Given the description of an element on the screen output the (x, y) to click on. 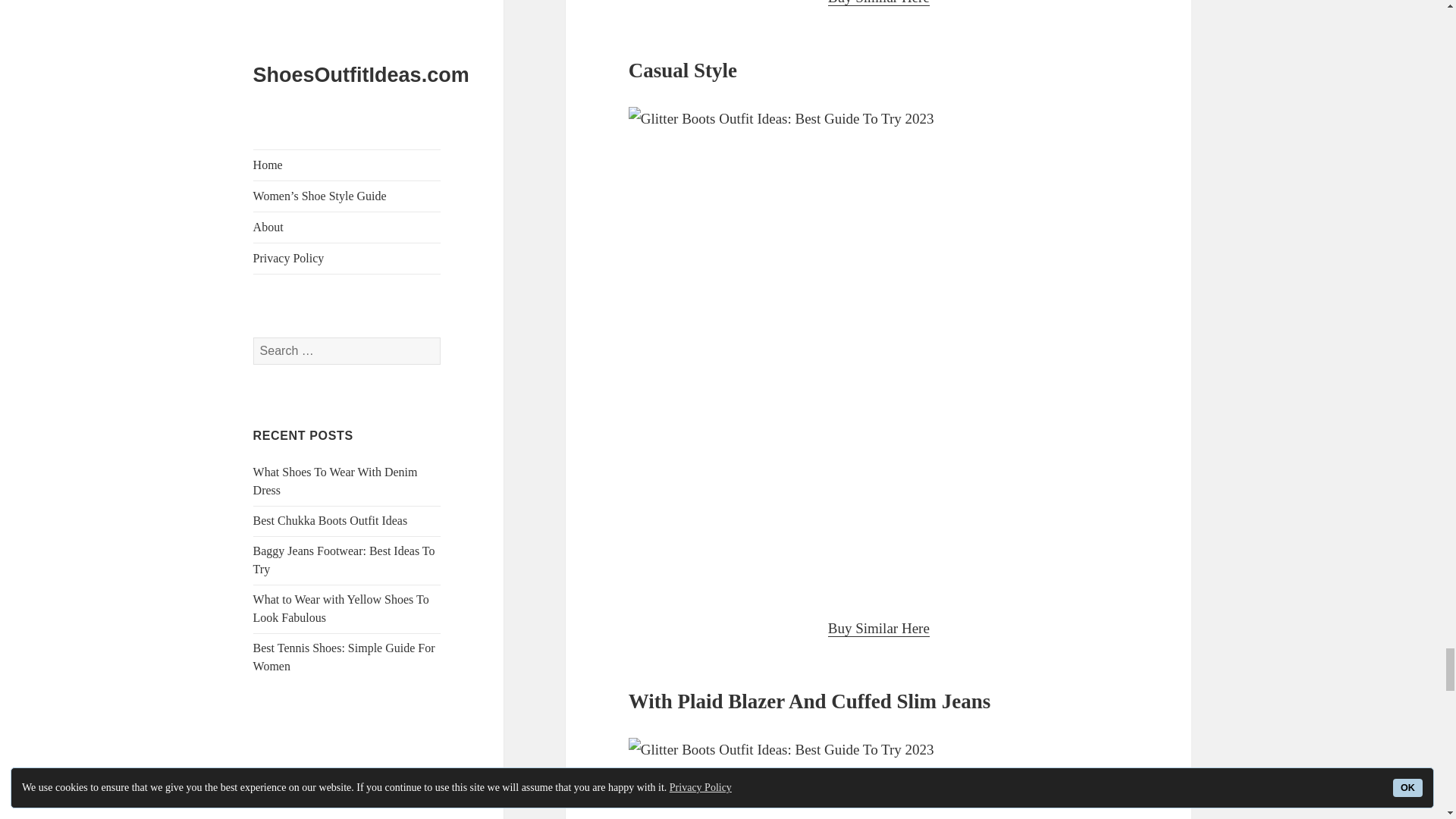
Buy Similar Here (879, 2)
Glitter Boots Outfit Ideas: Best Guide To Try 2023 (878, 778)
Buy Similar Here (879, 628)
